Given the description of an element on the screen output the (x, y) to click on. 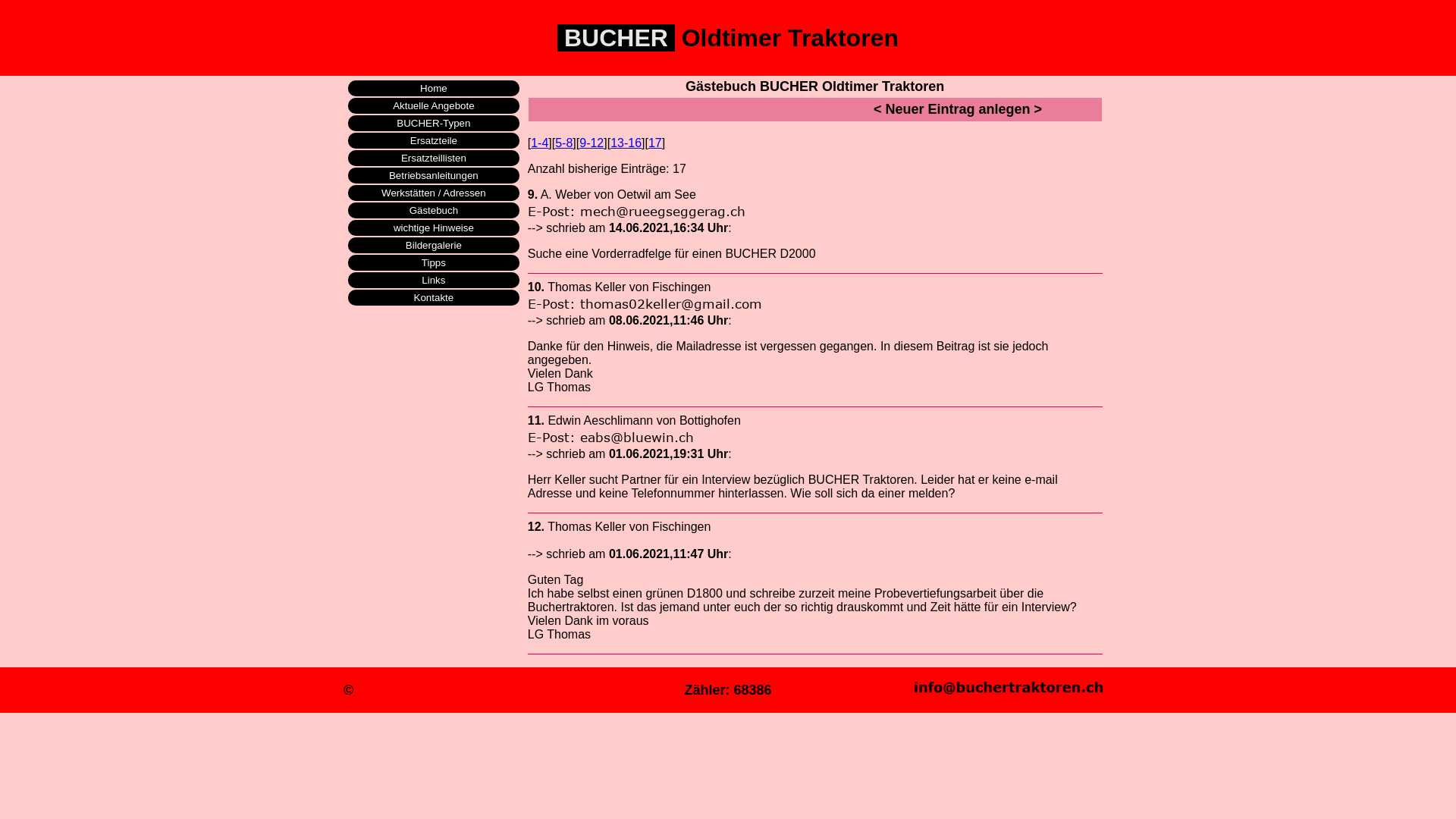
wichtige Hinweise Element type: text (433, 227)
Ersatzteile Element type: text (433, 140)
5-8 Element type: text (563, 142)
Ersatzteillisten Element type: text (433, 158)
Bildergalerie Element type: text (433, 245)
Links Element type: text (433, 280)
BUCHER-Typen Element type: text (433, 123)
Home Element type: text (433, 88)
Betriebsanleitungen Element type: text (433, 175)
1-4 Element type: text (539, 142)
< Neuer Eintrag anlegen > Element type: text (957, 108)
17 Element type: text (655, 142)
Aktuelle Angebote Element type: text (433, 105)
Tipps Element type: text (433, 262)
9-12 Element type: text (591, 142)
13-16 Element type: text (625, 142)
Kontakte Element type: text (433, 297)
